Given the description of an element on the screen output the (x, y) to click on. 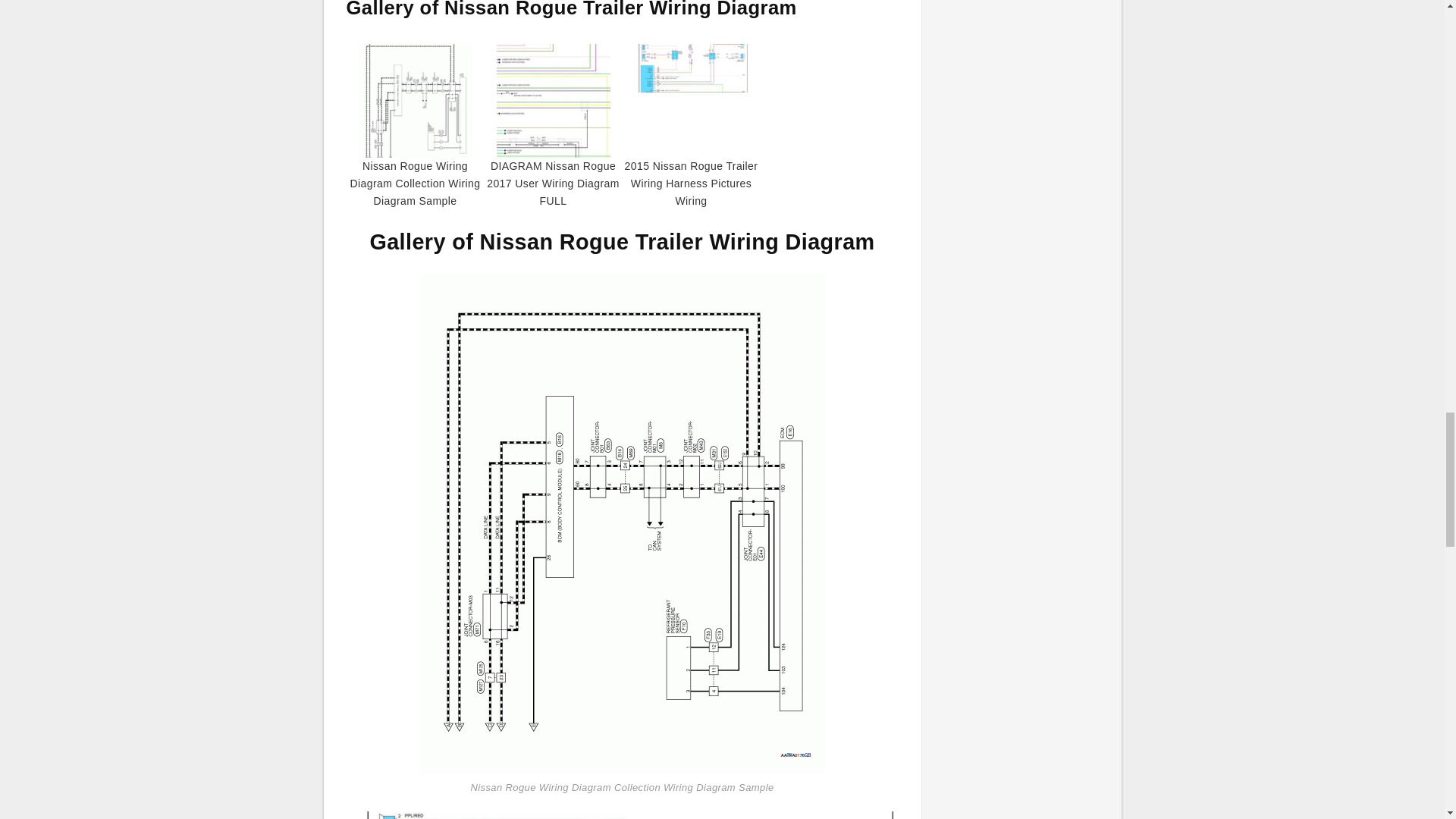
Nissan Rogue Wiring Diagram Collection Wiring Diagram Sample (622, 522)
2015 Nissan Rogue Trailer Wiring Harness Pictures Wiring (622, 815)
